Given the description of an element on the screen output the (x, y) to click on. 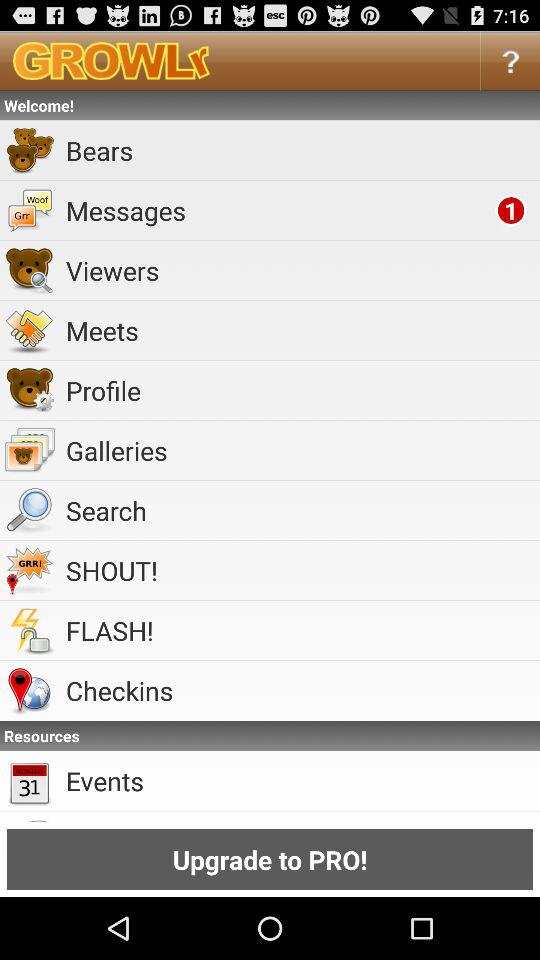
scroll until 1 (510, 210)
